Given the description of an element on the screen output the (x, y) to click on. 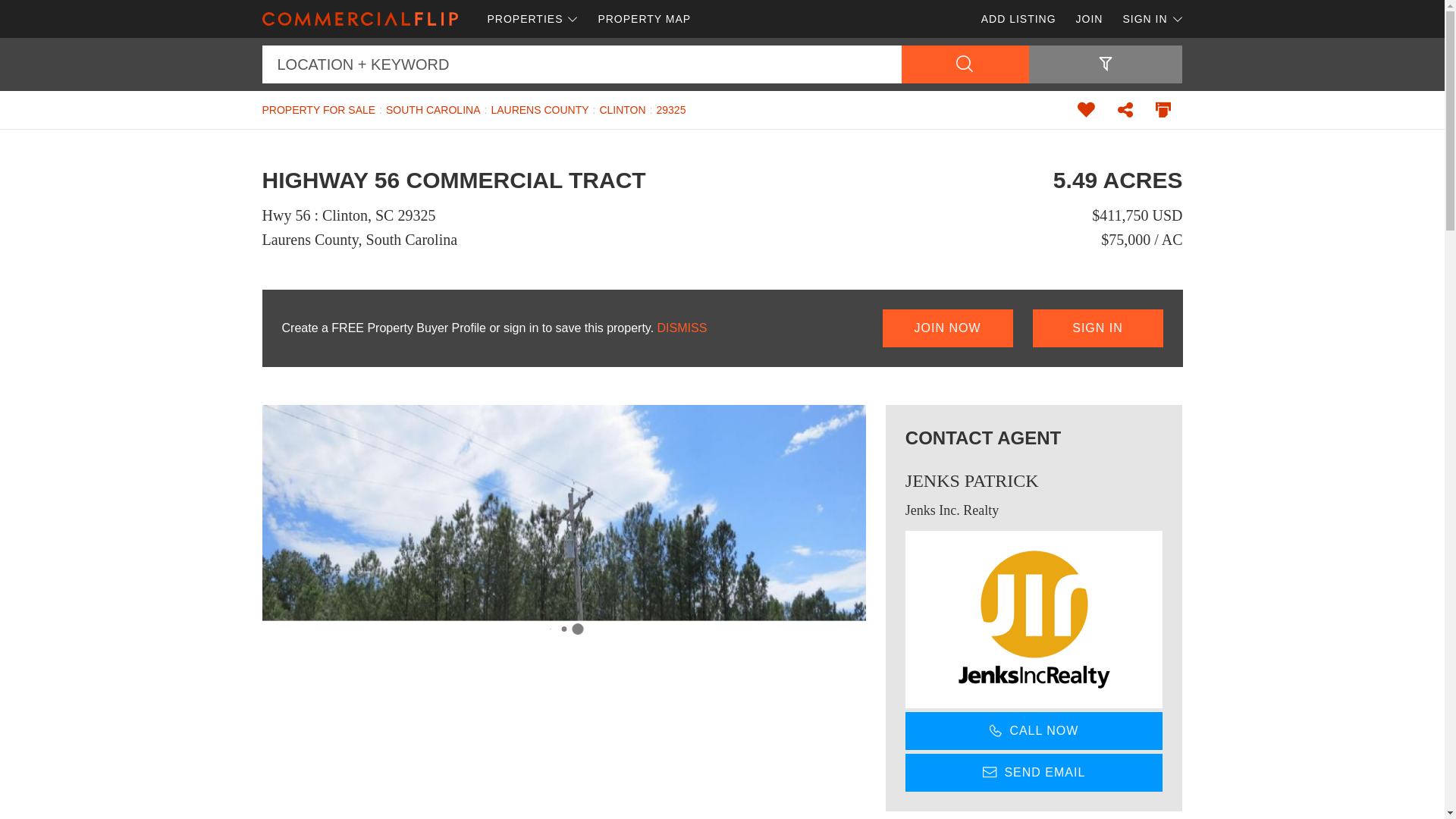
LAURENS COUNTY (539, 110)
PROPERTY FOR SALE (318, 110)
ADD LISTING (1018, 18)
Save Property (1085, 109)
PROPERTIES (532, 18)
SIGN IN (1147, 18)
Print Property (1163, 109)
Share Property (1125, 109)
CLINTON (621, 110)
JOIN (1089, 18)
